Given the description of an element on the screen output the (x, y) to click on. 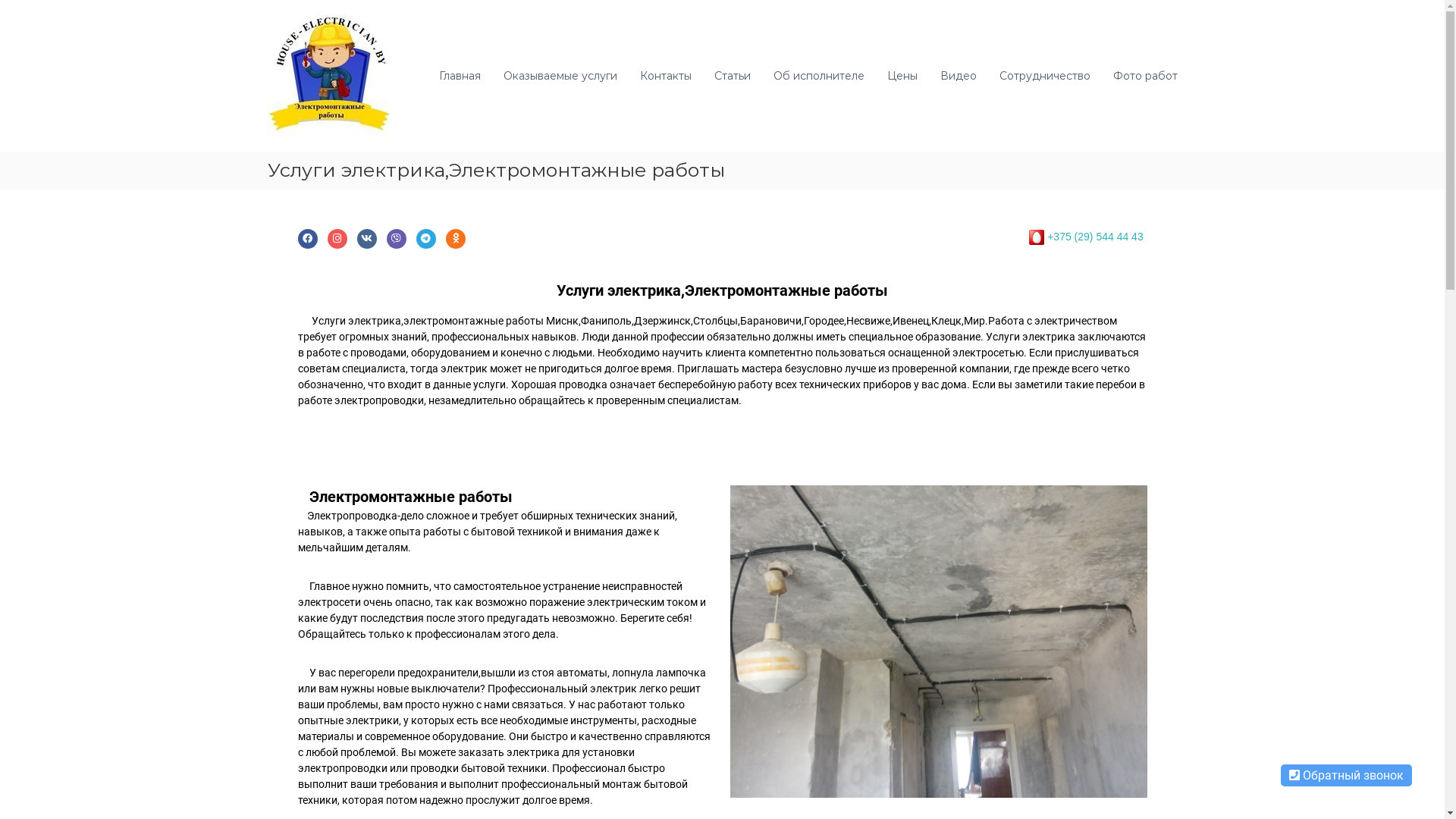
+375 (29) 544 44 43 Element type: text (1095, 236)
